Given the description of an element on the screen output the (x, y) to click on. 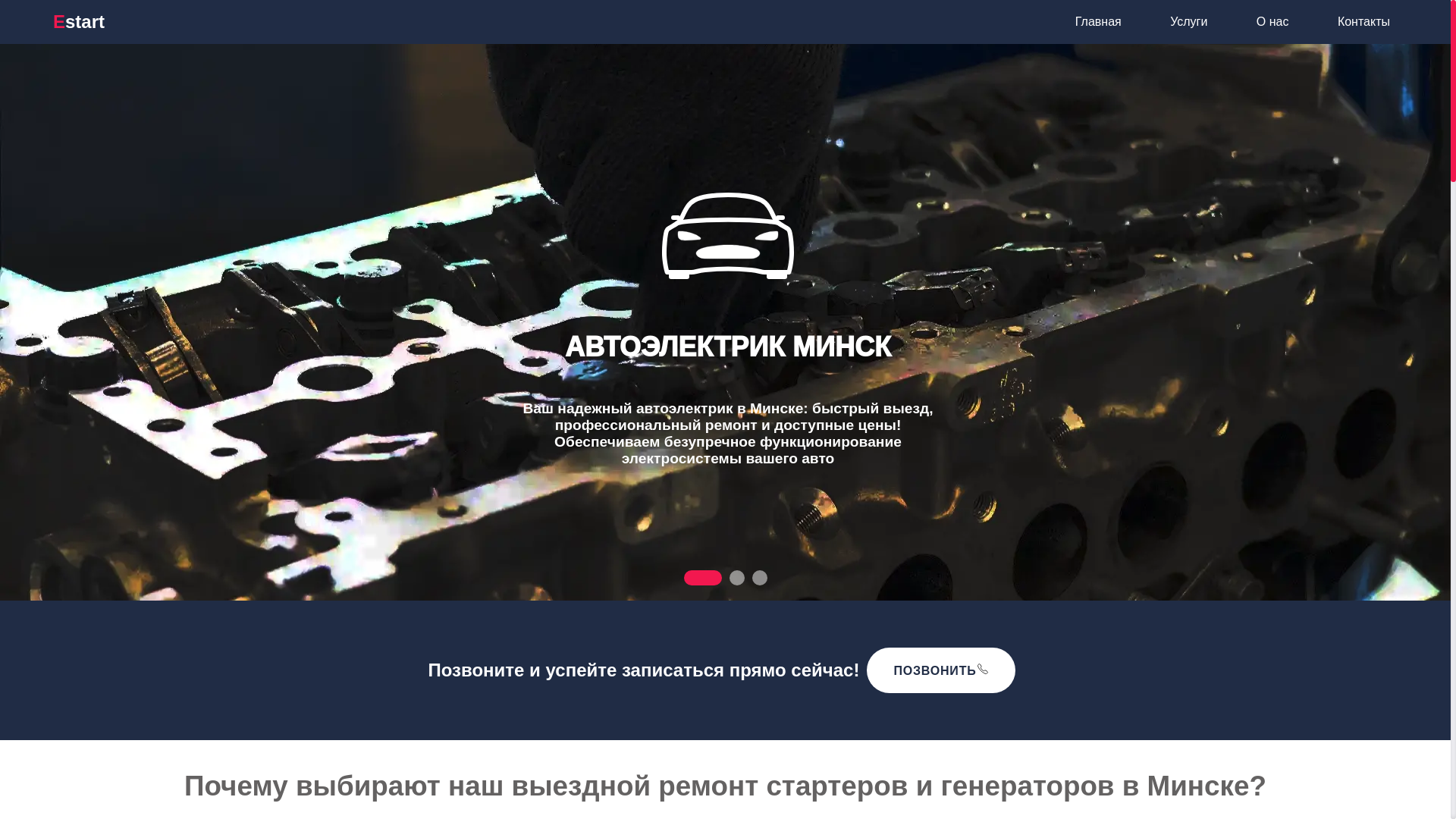
Estart Element type: text (78, 21)
